Given the description of an element on the screen output the (x, y) to click on. 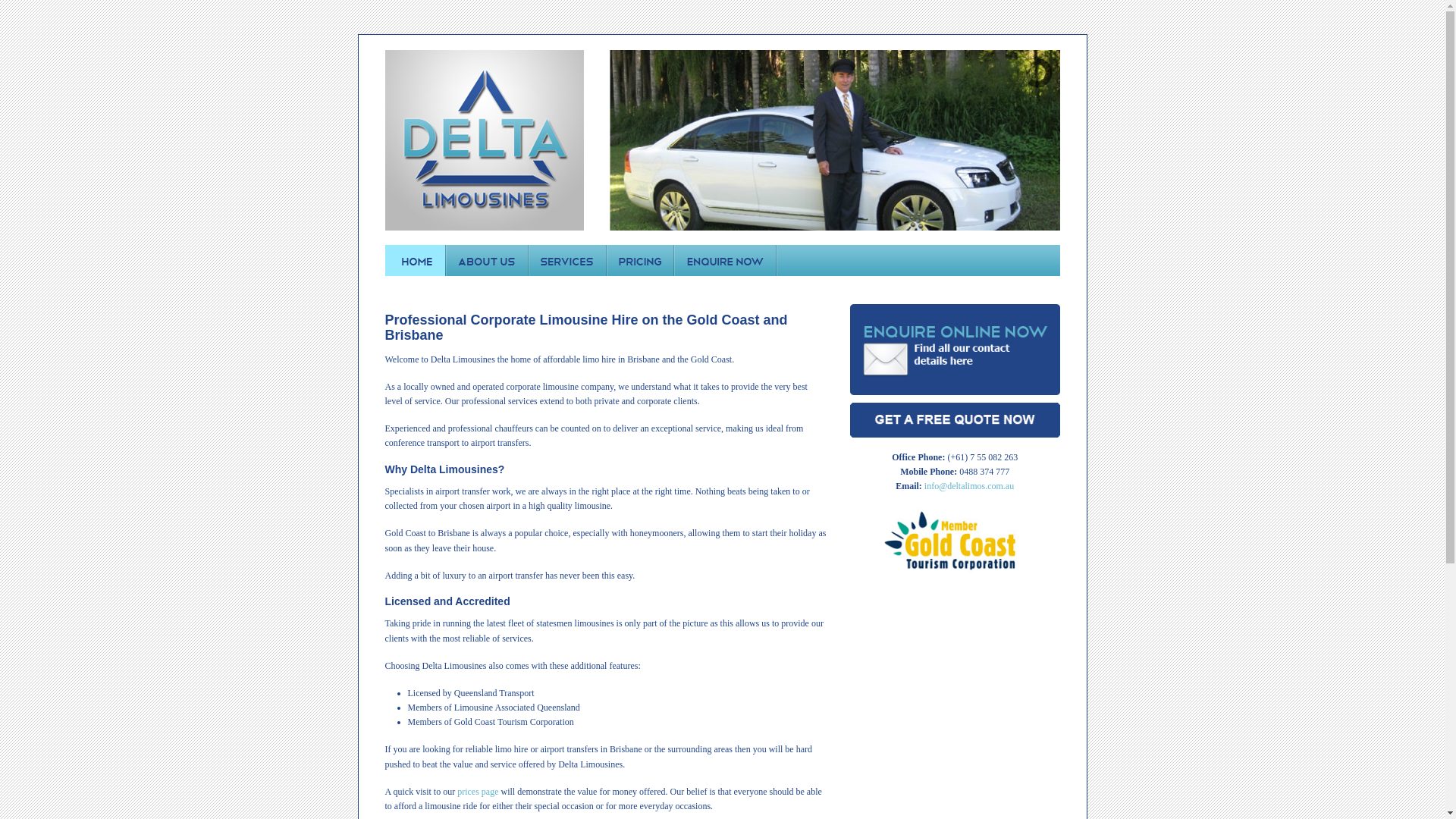
Brisbane Airport to Gold Coast, Airport Transfer Brisbane Element type: text (484, 227)
info@deltalimos.com.au Element type: text (968, 485)
prices page Element type: text (477, 791)
